Given the description of an element on the screen output the (x, y) to click on. 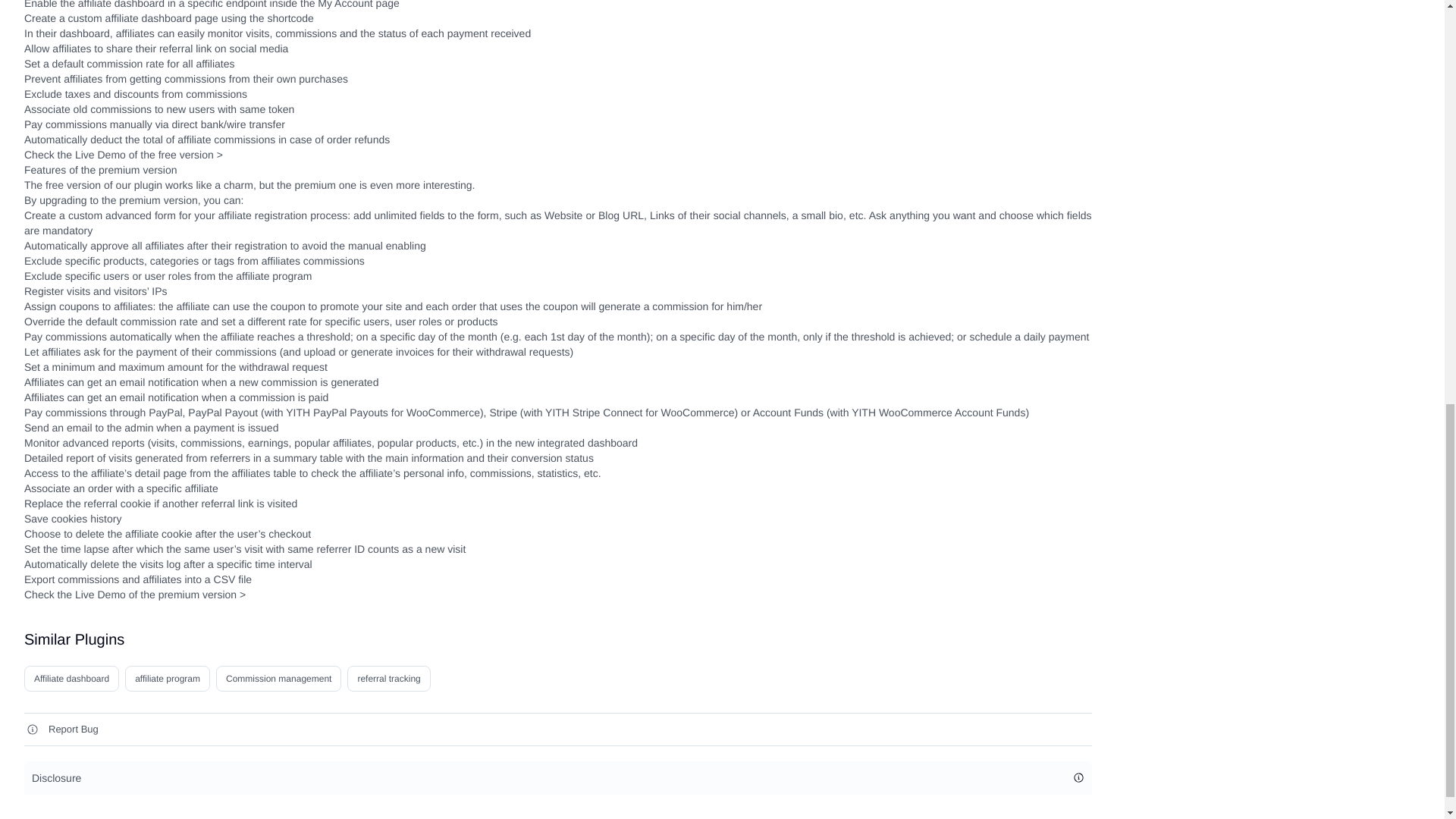
affiliate program (167, 678)
Affiliate dashboard (71, 678)
Commission management (277, 678)
referral tracking (388, 678)
